Given the description of an element on the screen output the (x, y) to click on. 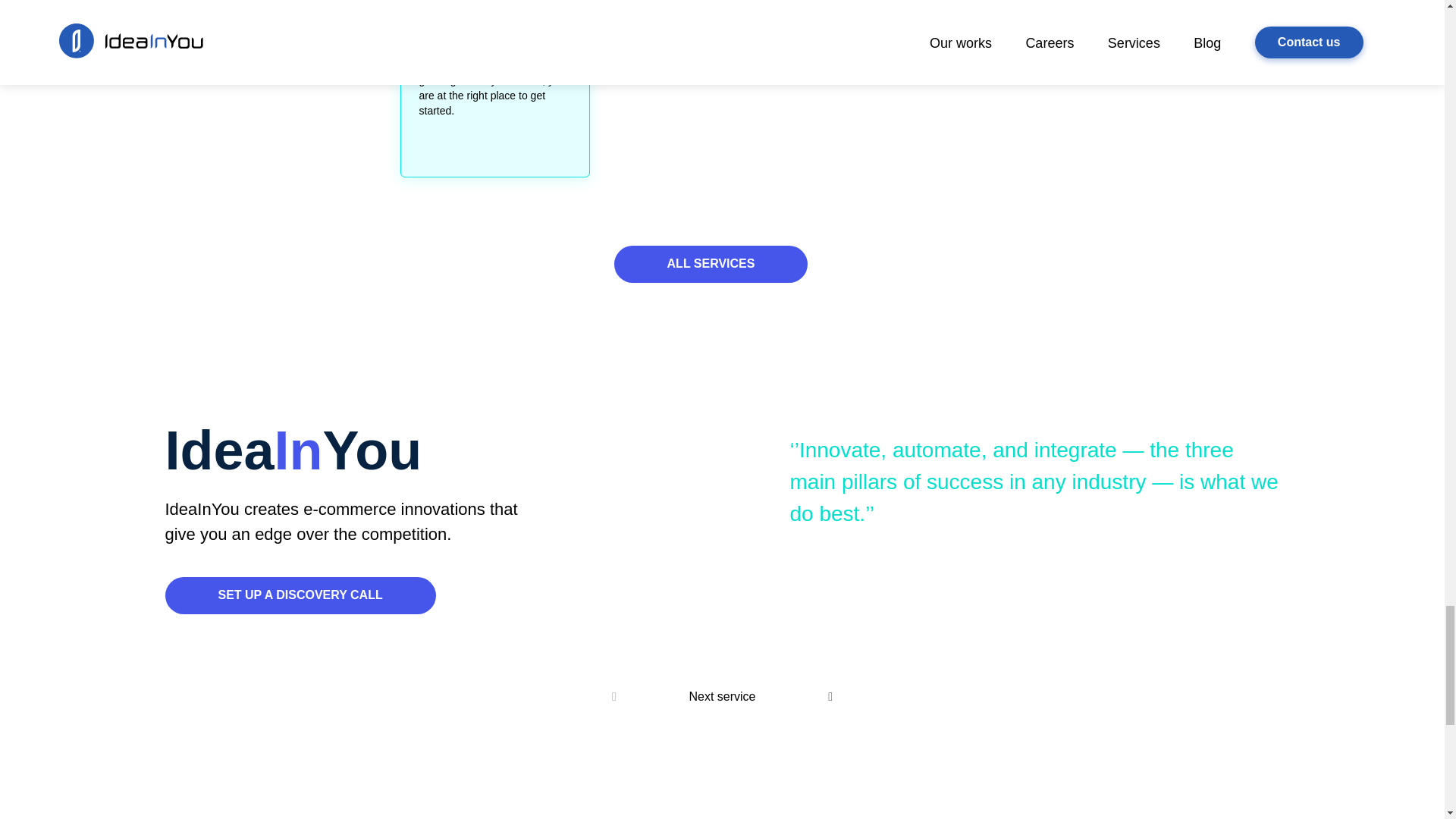
ALL SERVICES (711, 263)
SET UP A DISCOVERY CALL (300, 595)
